Given the description of an element on the screen output the (x, y) to click on. 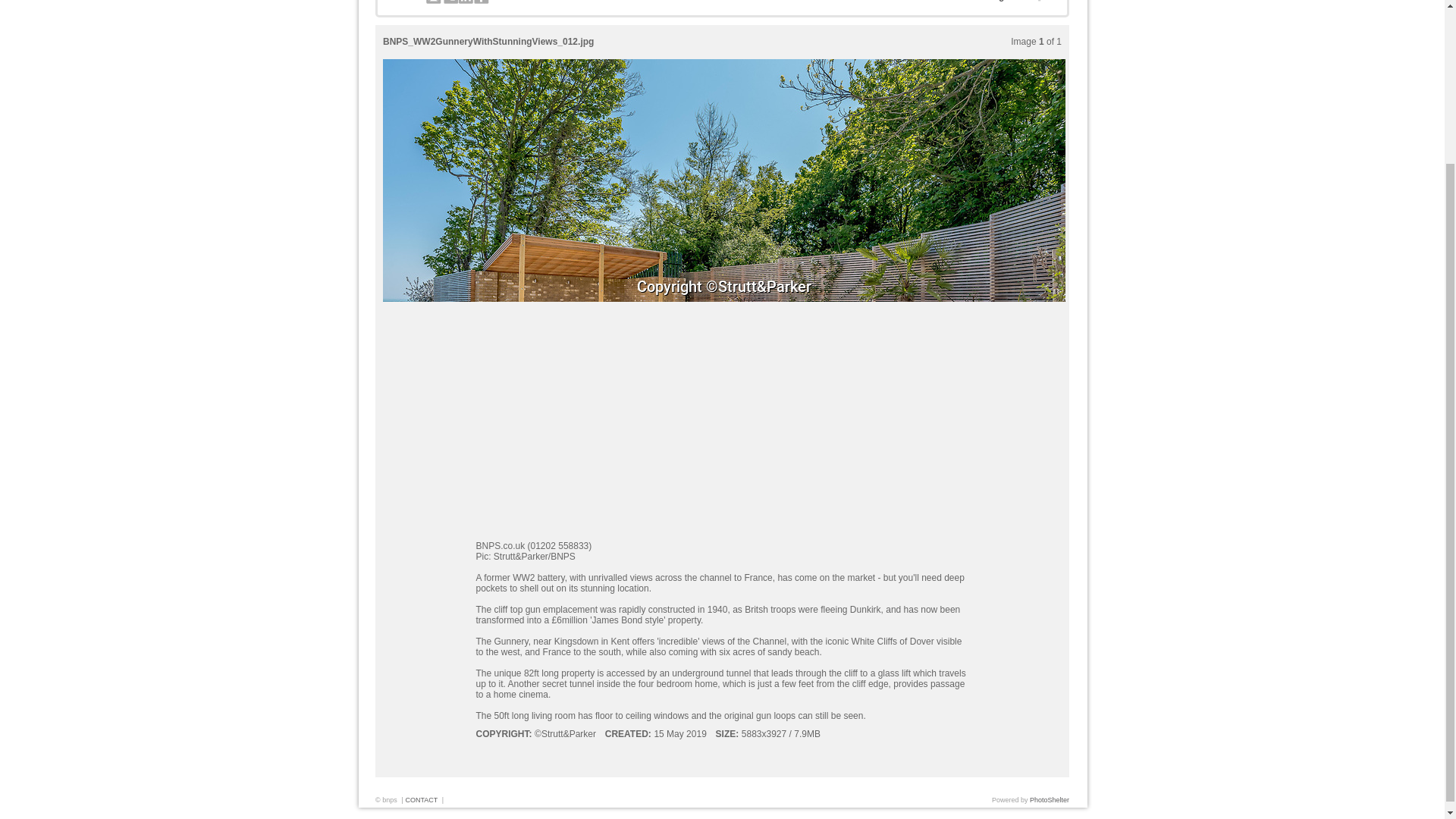
Add to Lightbox (1005, 2)
Email to a Friend (433, 2)
CONTACT (421, 799)
PhotoShelter (1048, 799)
